Given the description of an element on the screen output the (x, y) to click on. 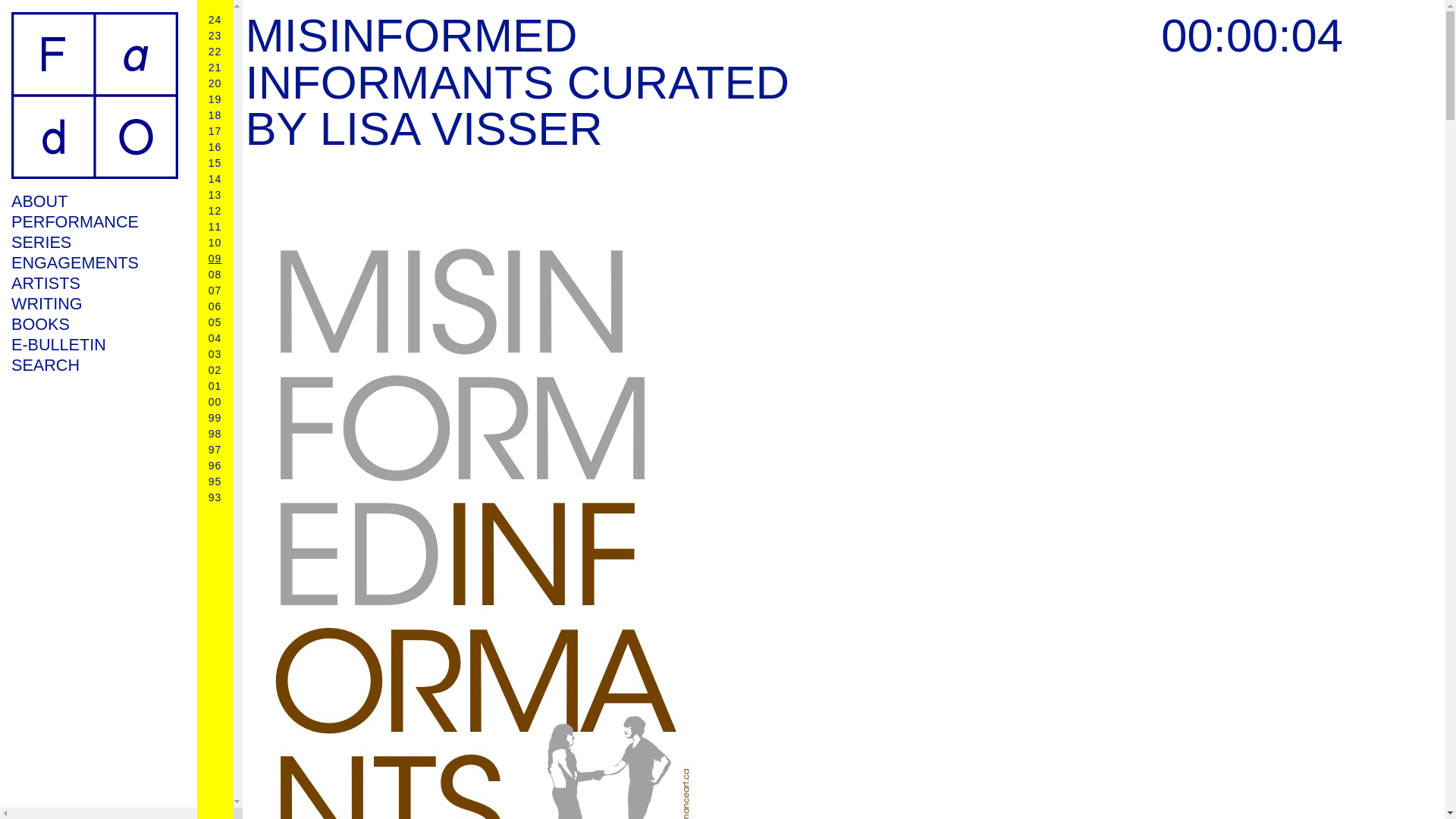
WRITING (94, 303)
18 (215, 114)
19 (215, 99)
21 (215, 67)
07 (215, 290)
ARTISTS (94, 282)
ENGAGEMENTS (94, 262)
SEARCH (94, 364)
09 (215, 258)
11 (215, 226)
